Given the description of an element on the screen output the (x, y) to click on. 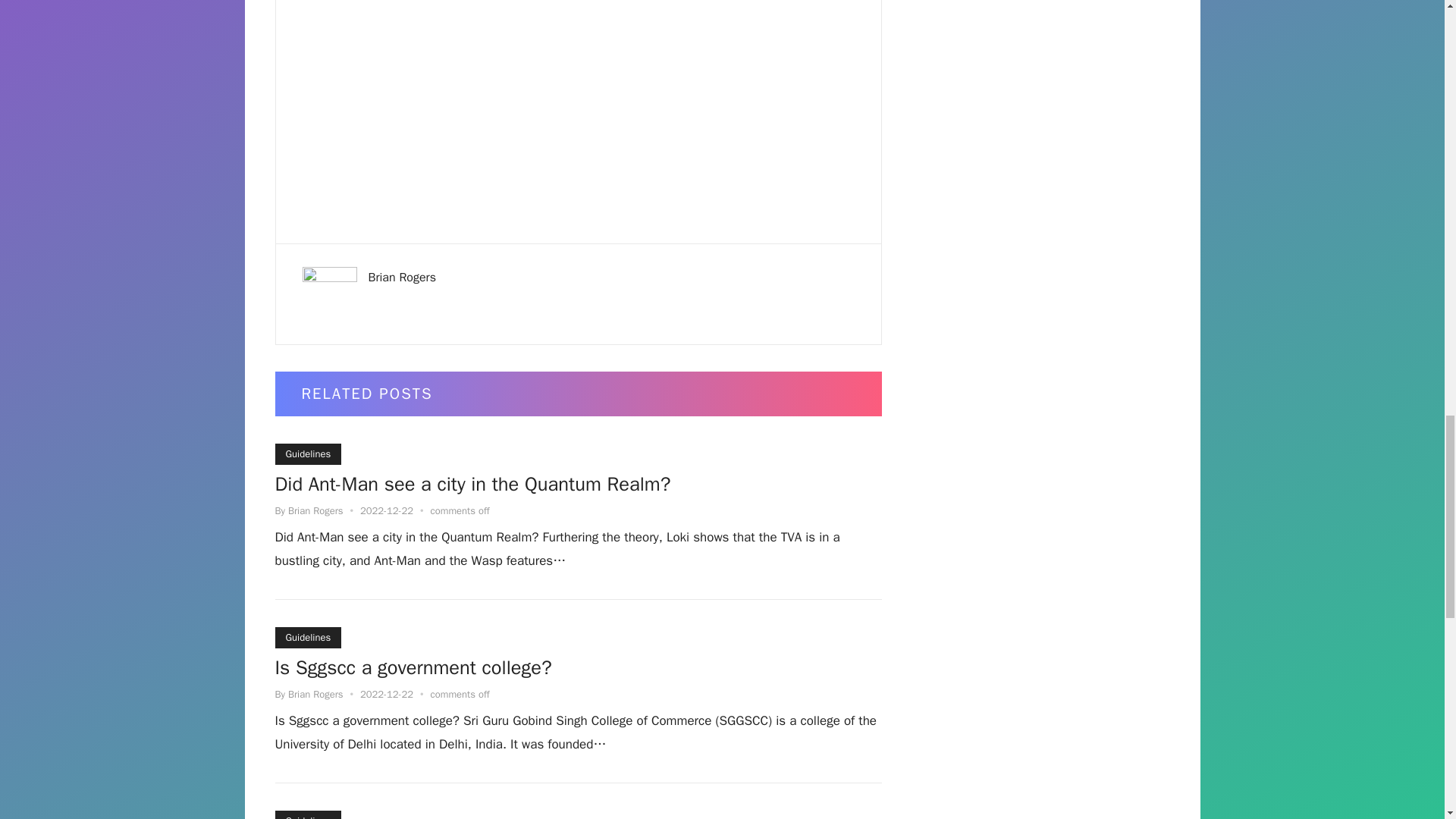
Brian Rogers (401, 277)
Posts by Brian Rogers (315, 694)
Guidelines (307, 454)
Posts by Brian Rogers (315, 510)
